Given the description of an element on the screen output the (x, y) to click on. 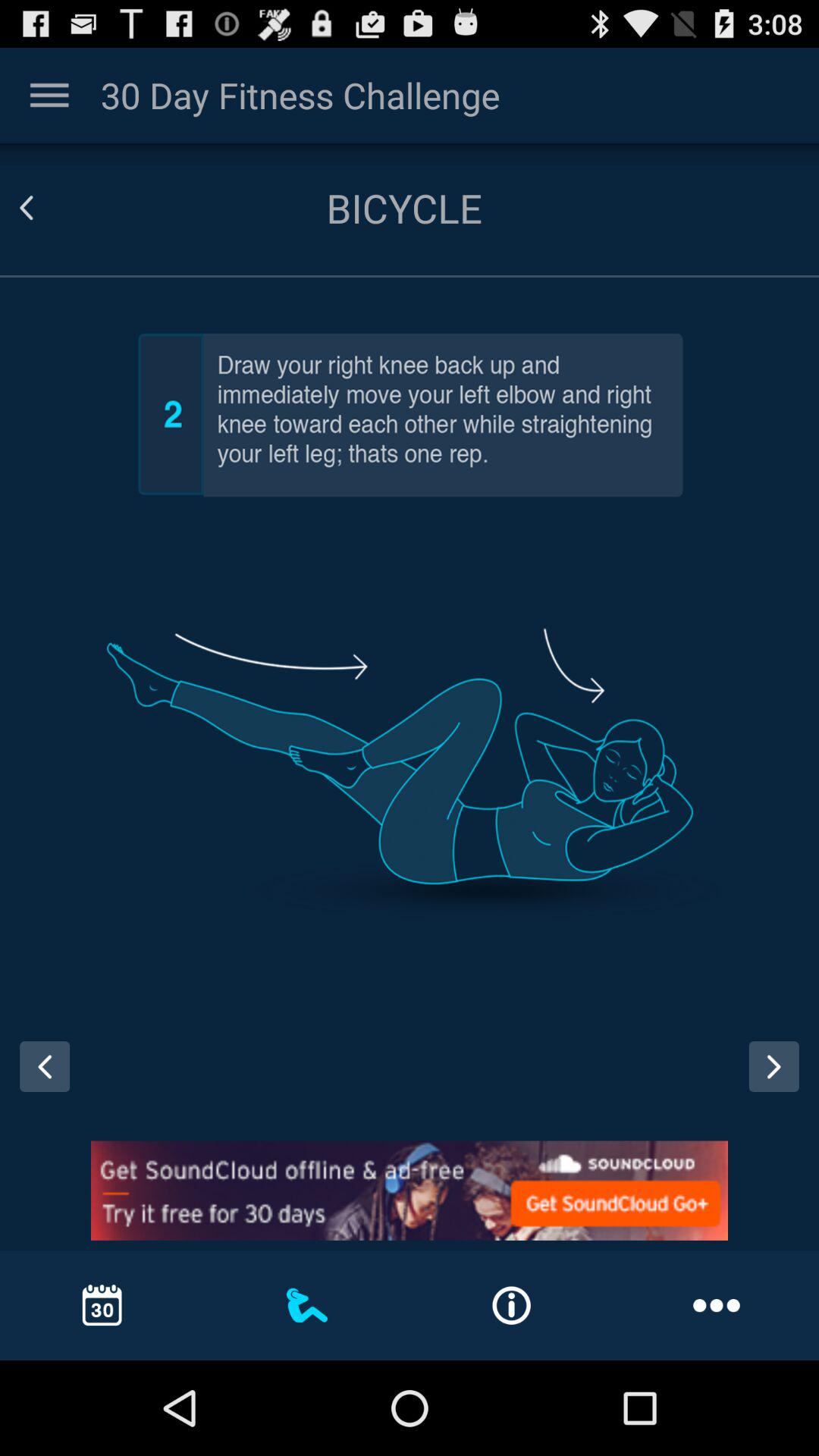
back the option (44, 208)
